Given the description of an element on the screen output the (x, y) to click on. 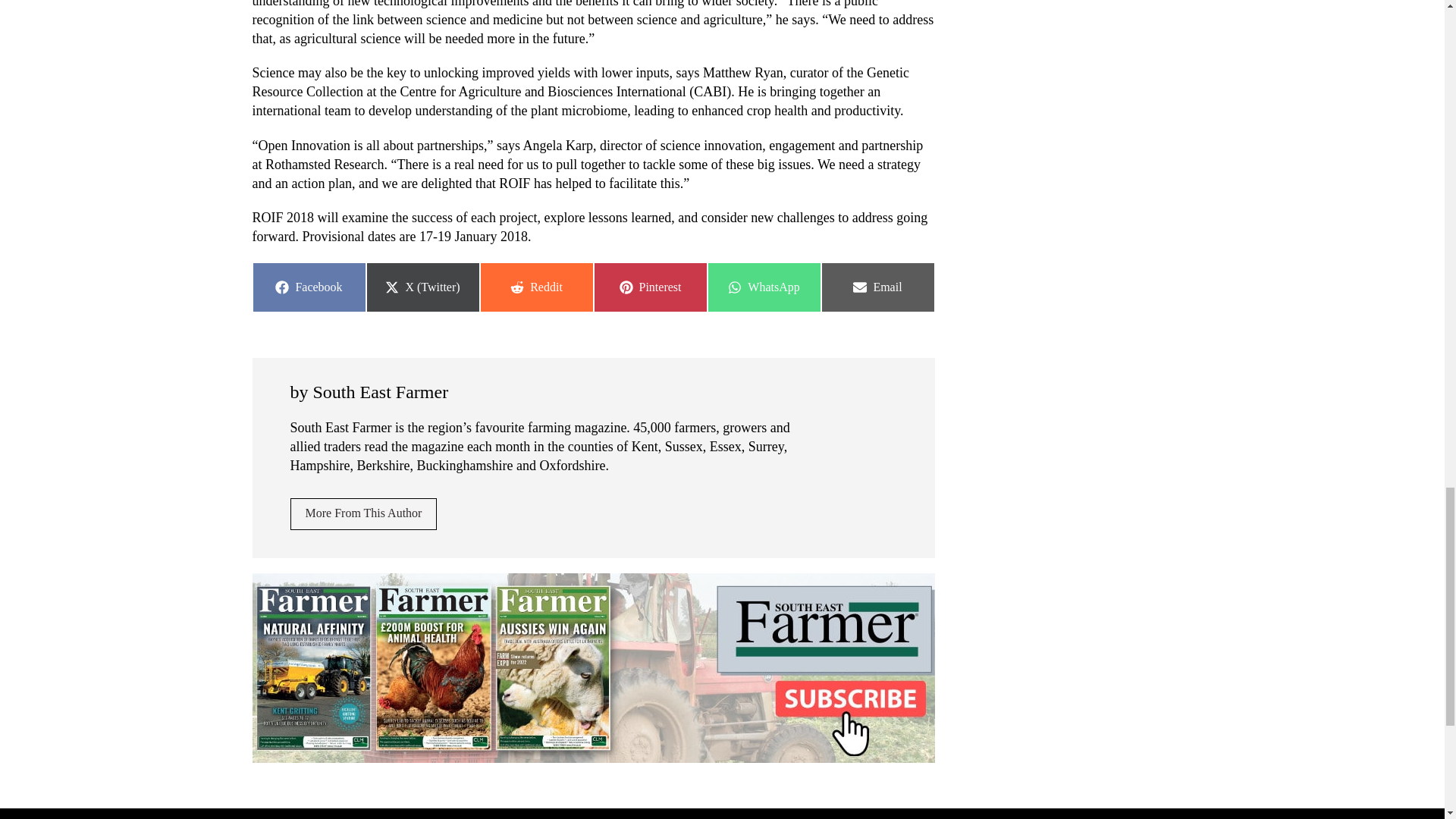
More From This Author (362, 513)
